Given the description of an element on the screen output the (x, y) to click on. 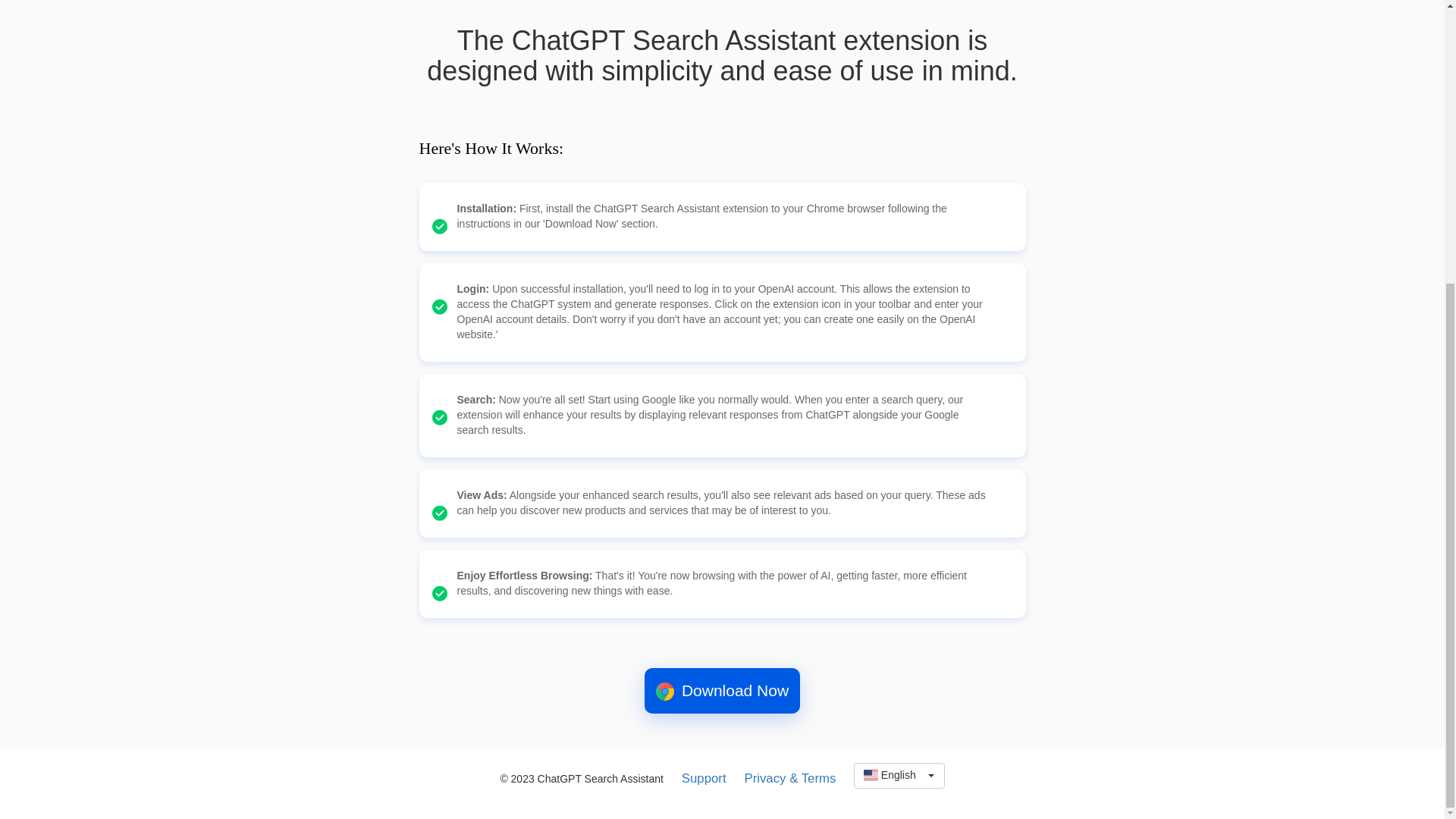
English (898, 775)
Download Now (722, 690)
Support (898, 775)
